Given the description of an element on the screen output the (x, y) to click on. 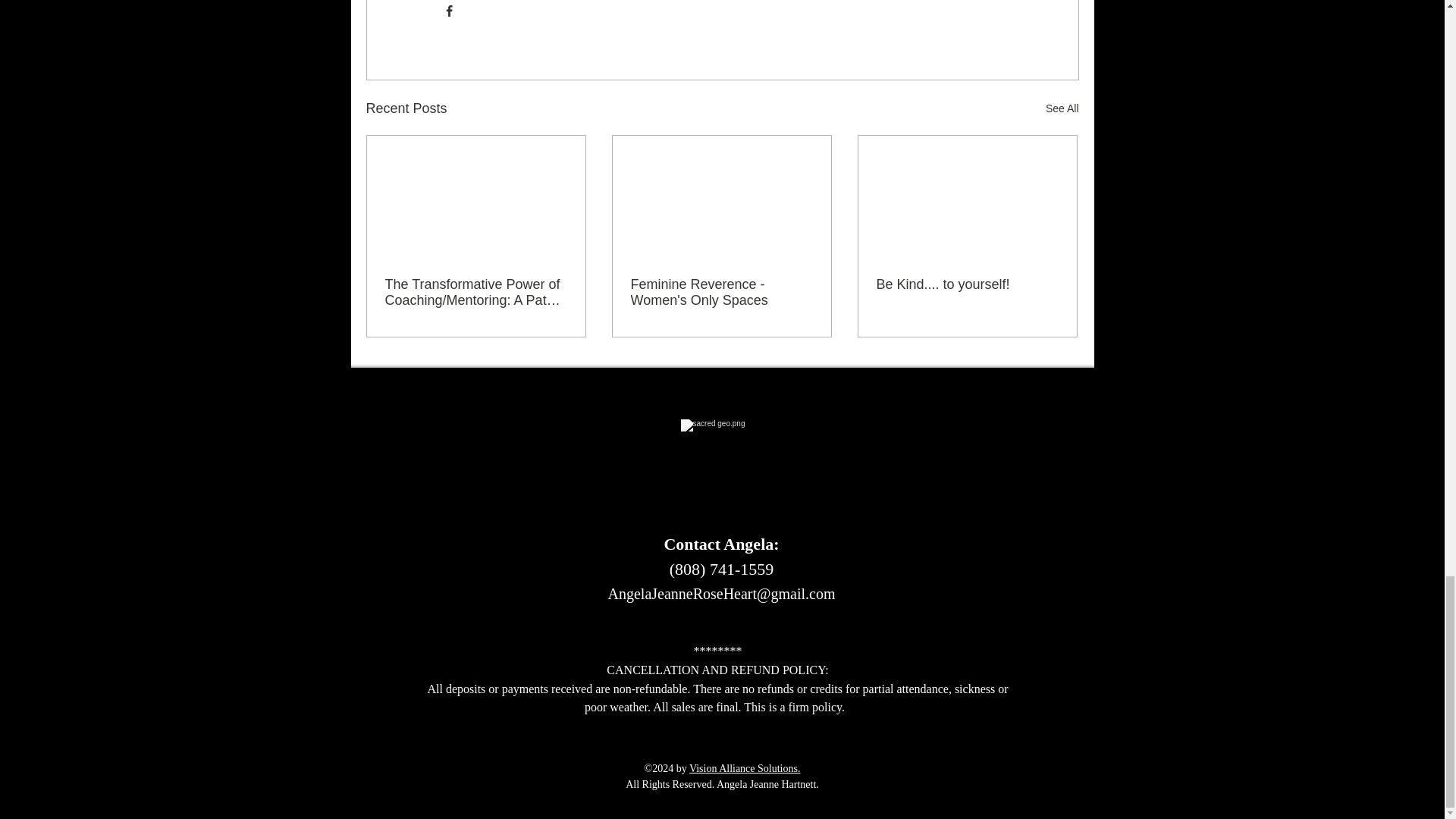
See All (1061, 108)
Vision Alliance Solutions. (744, 767)
Feminine Reverence - Women's Only Spaces (721, 292)
Be Kind.... to yourself! (967, 284)
